Given the description of an element on the screen output the (x, y) to click on. 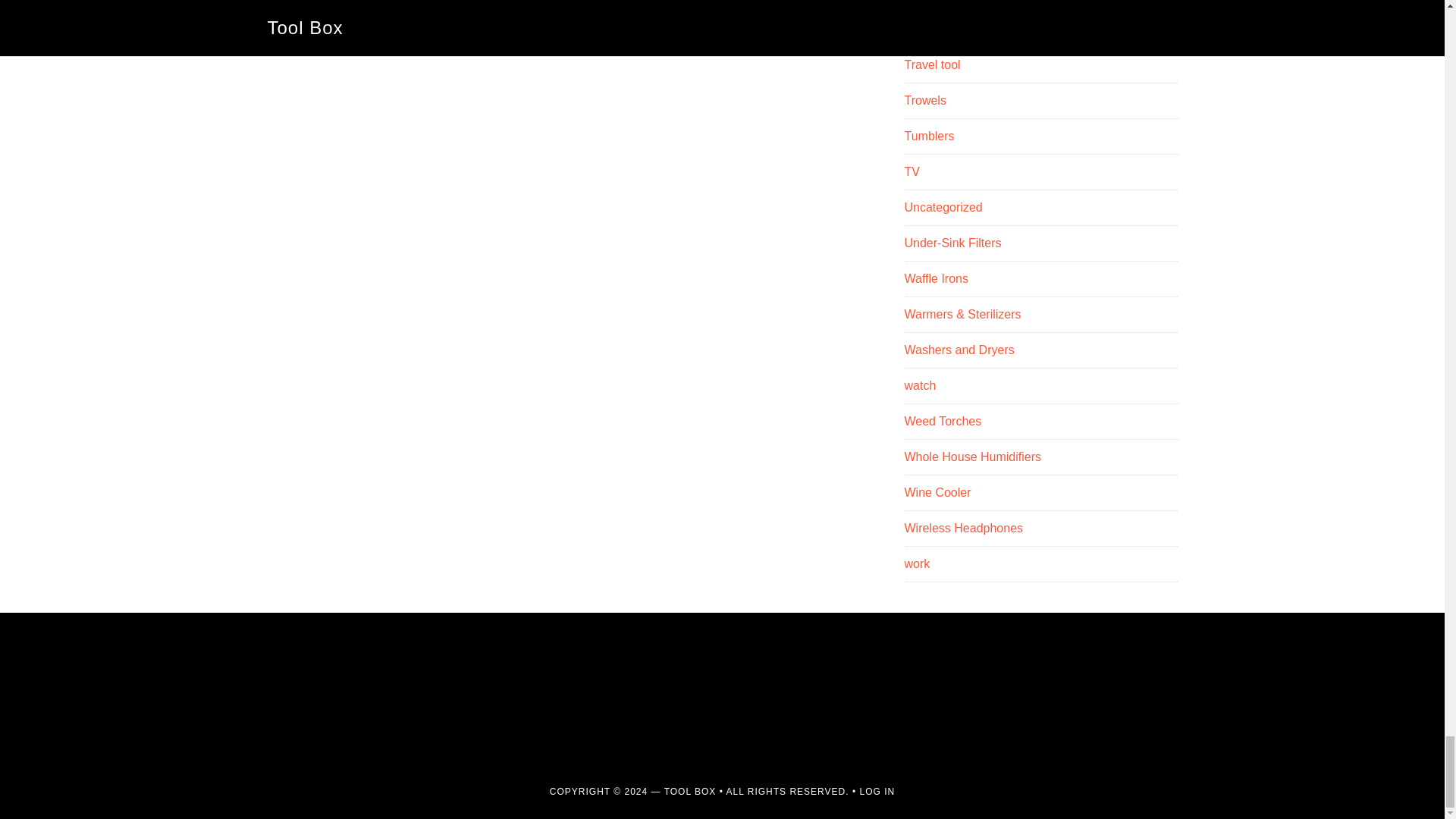
Tool Box (689, 791)
